Given the description of an element on the screen output the (x, y) to click on. 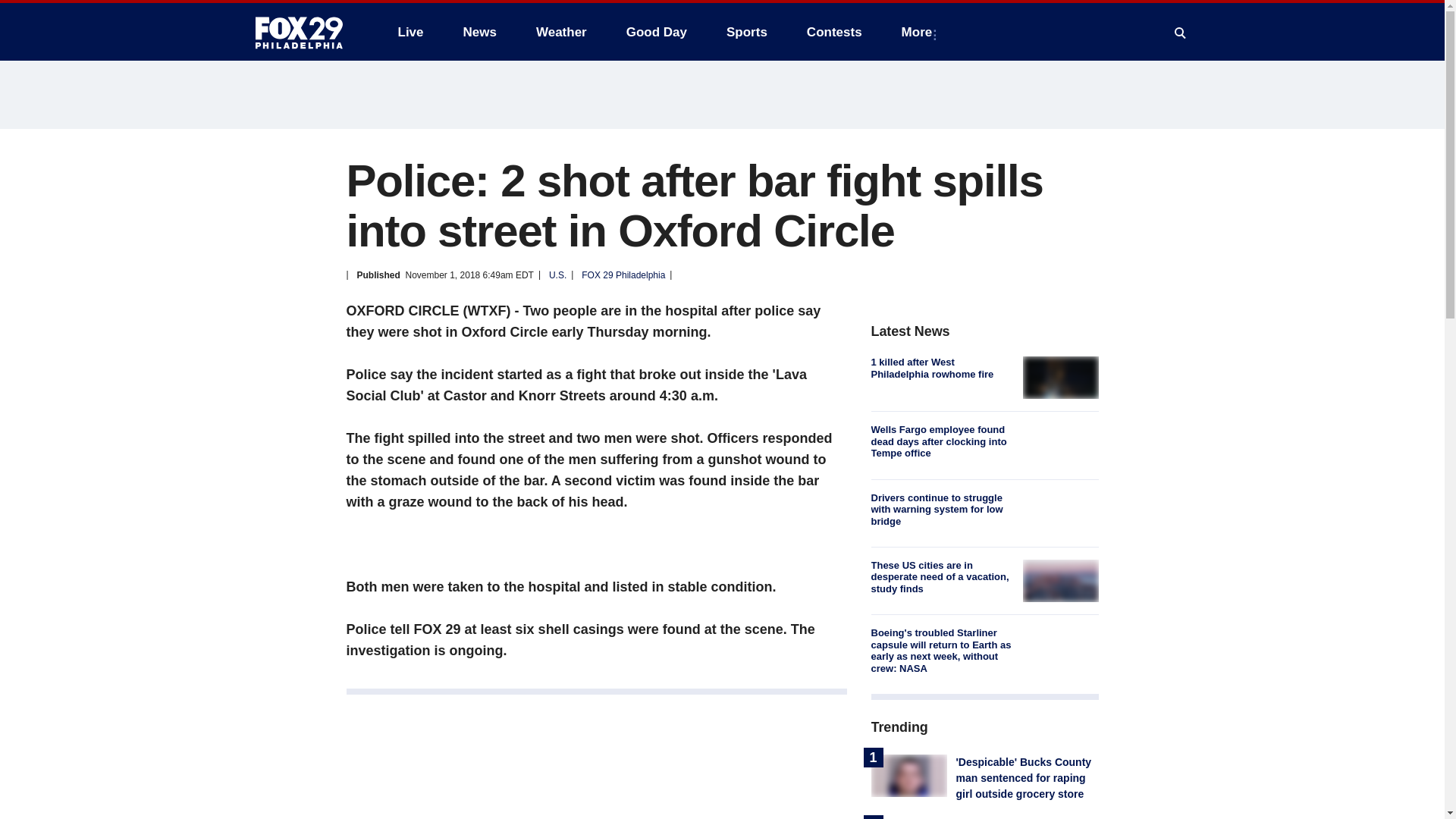
Contests (834, 32)
Weather (561, 32)
Sports (746, 32)
Good Day (656, 32)
News (479, 32)
More (919, 32)
Live (410, 32)
